Given the description of an element on the screen output the (x, y) to click on. 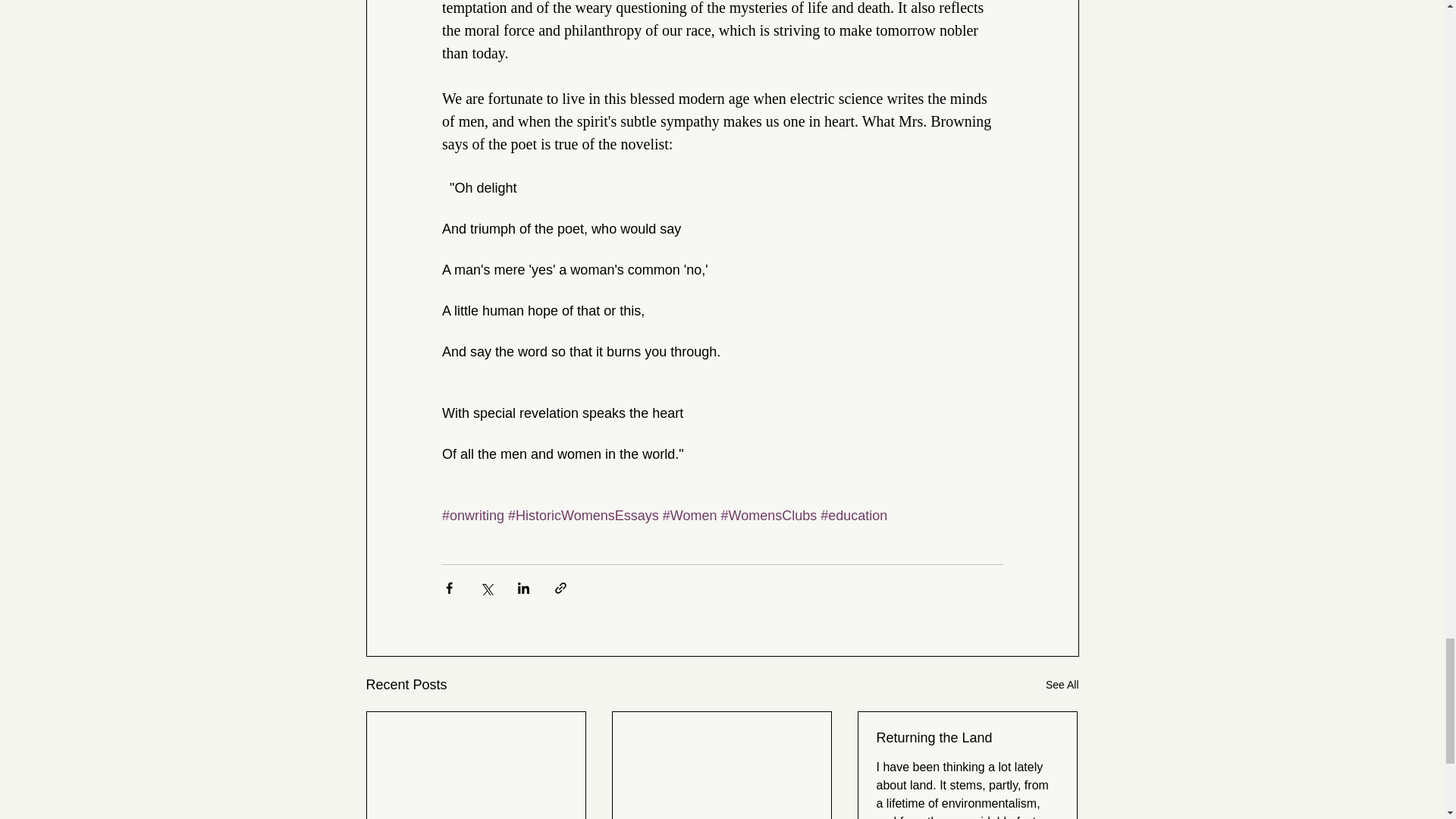
Returning the Land (967, 738)
See All (1061, 685)
